Given the description of an element on the screen output the (x, y) to click on. 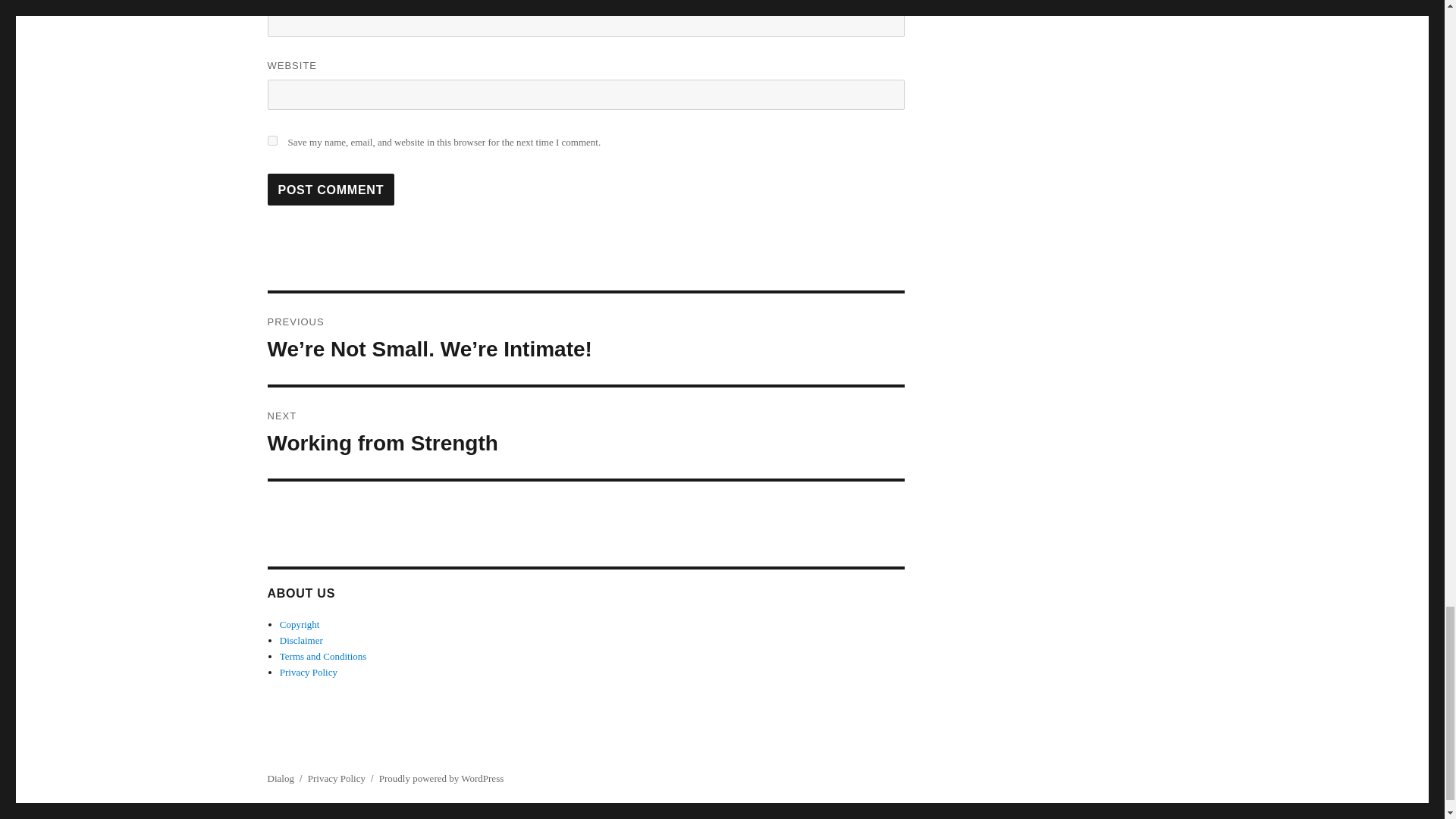
Disclaimer (301, 640)
Copyright (299, 624)
Terms and Conditions (322, 655)
Privacy Policy (308, 672)
Post Comment (330, 189)
Post Comment (585, 432)
yes (330, 189)
